Given the description of an element on the screen output the (x, y) to click on. 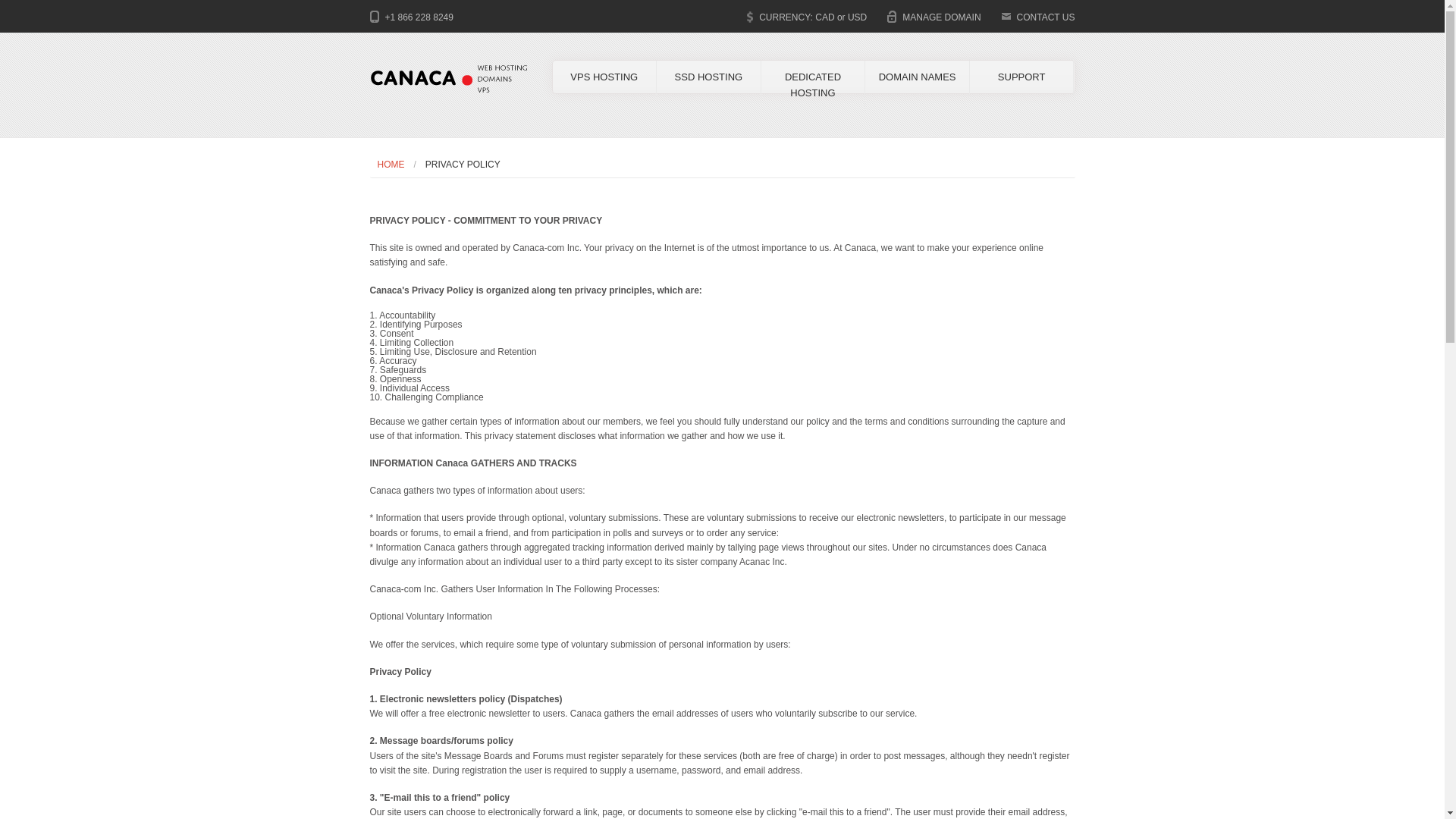
CAD (824, 17)
SUPPORT (1021, 77)
SSD HOSTING (708, 77)
PRIVACY POLICY (458, 163)
HOME (390, 163)
DOMAIN NAMES (916, 77)
VPS HOSTING (603, 77)
CONTACT US (1045, 17)
USD (856, 17)
DEDICATED HOSTING (812, 85)
MANAGE DOMAIN (940, 17)
